Given the description of an element on the screen output the (x, y) to click on. 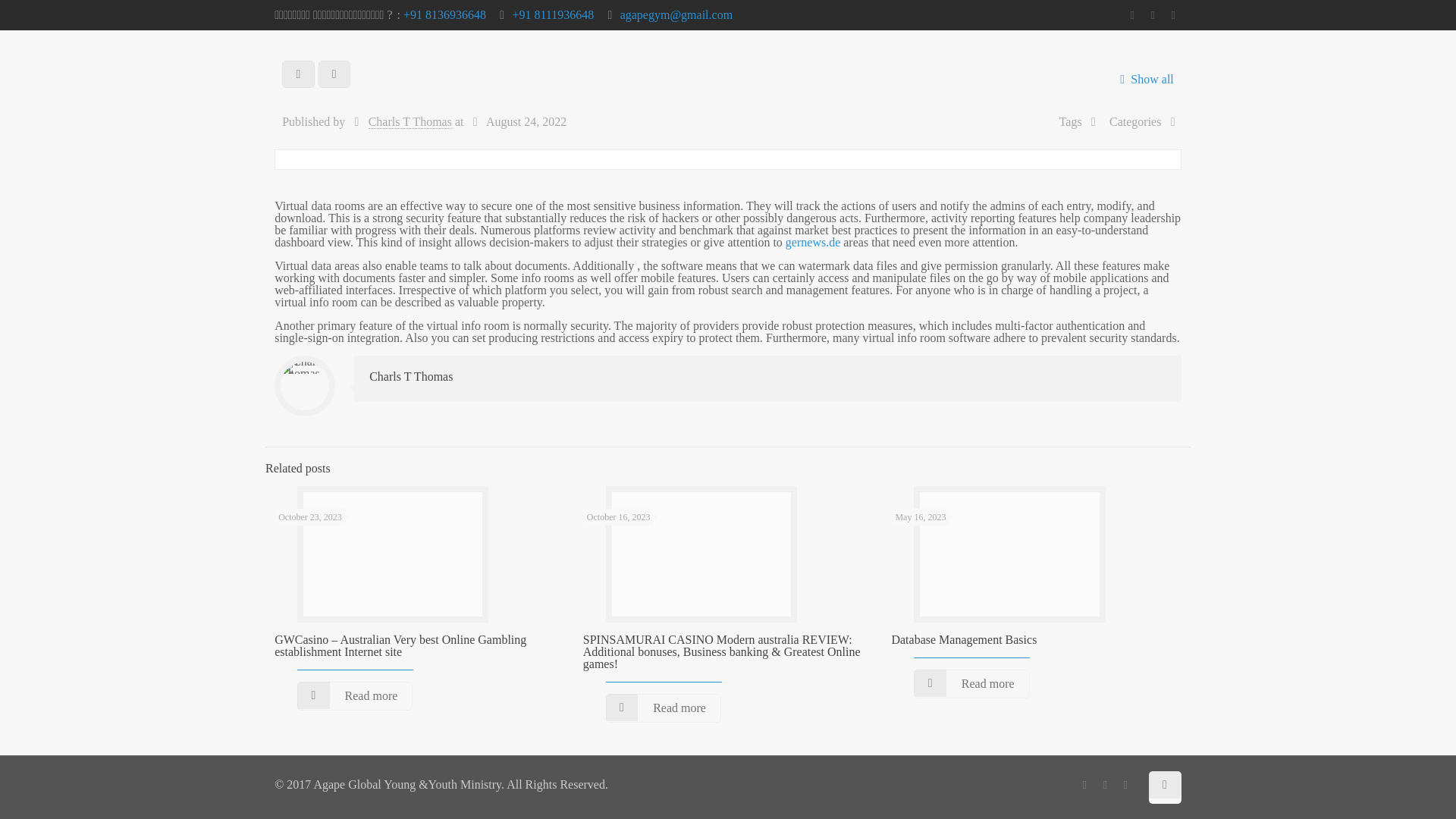
Twitter (1173, 15)
Twitter (1126, 784)
Facebook (1085, 784)
Charls T Thomas (409, 121)
Read more (354, 695)
Database Management Basics (963, 639)
Facebook (1132, 15)
Read more (971, 683)
Show all (1143, 78)
Charls T Thomas (410, 376)
